Given the description of an element on the screen output the (x, y) to click on. 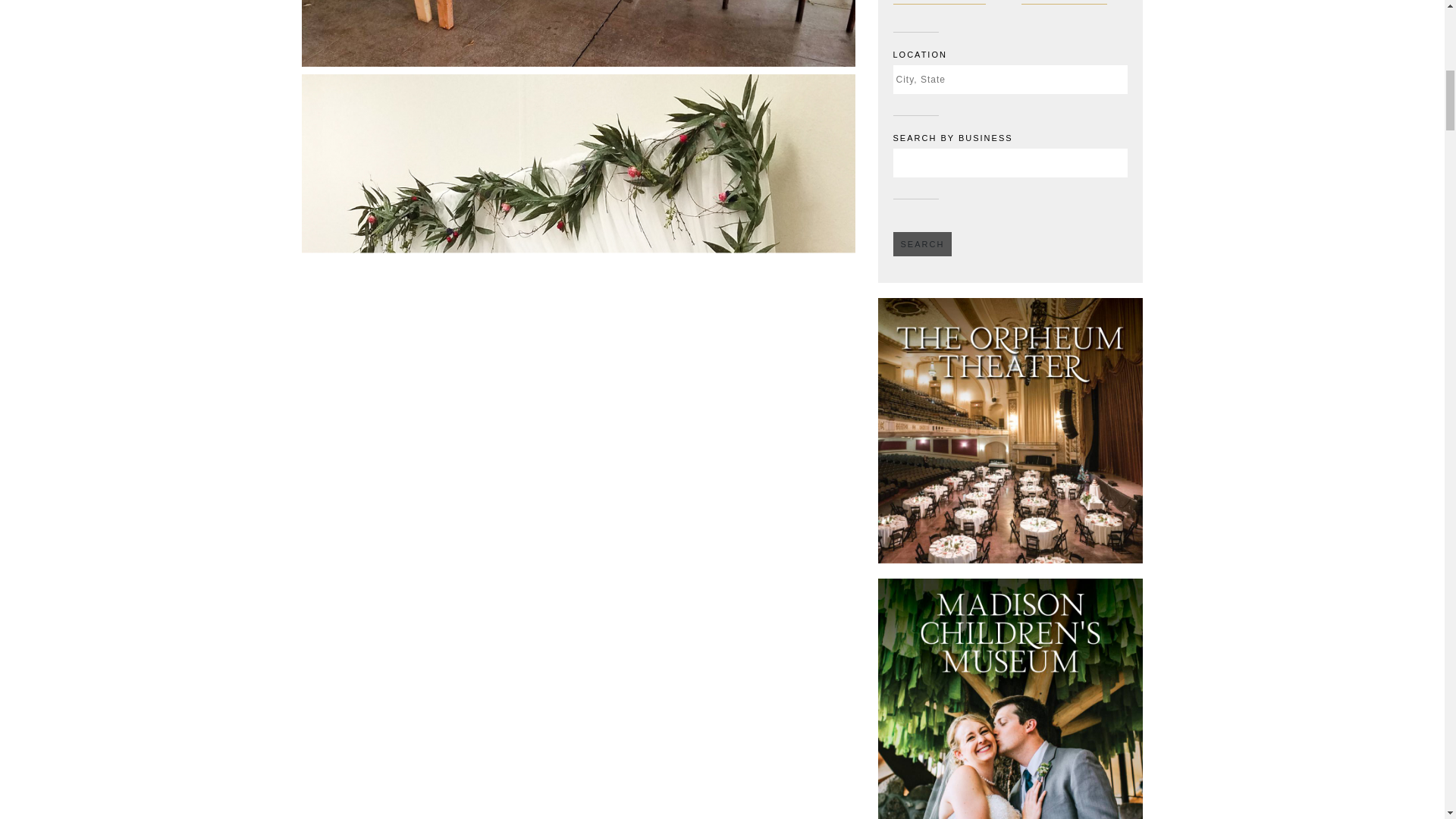
WEDDING VENDORS (945, 2)
WEDDING VENUES (1074, 2)
SEARCH (922, 243)
